Given the description of an element on the screen output the (x, y) to click on. 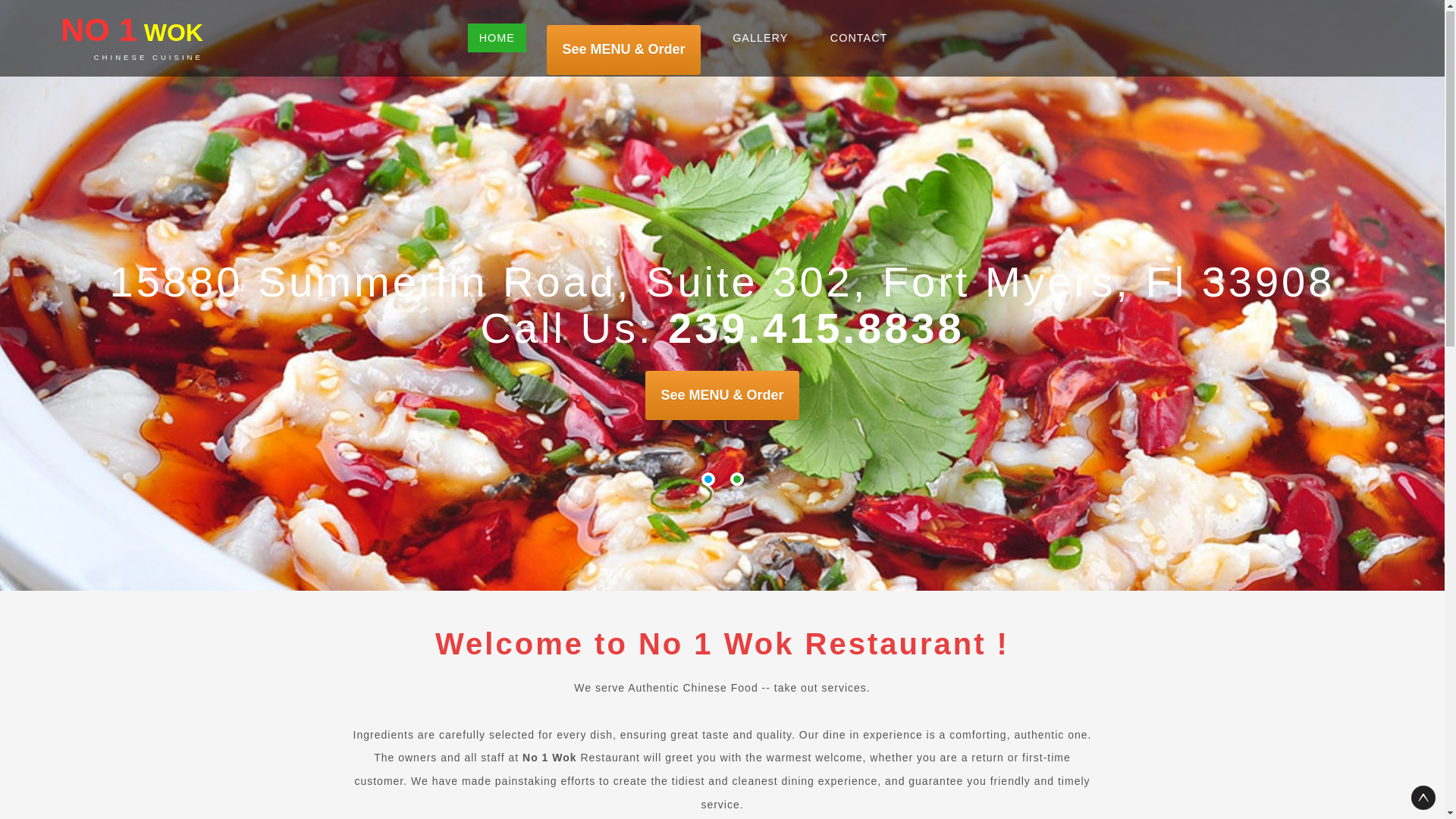
NO 1 WOK
CHINESE CUISINE Element type: text (131, 38)
GALLERY Element type: text (760, 38)
HOME Element type: text (496, 38)
CONTACT Element type: text (858, 38)
